Given the description of an element on the screen output the (x, y) to click on. 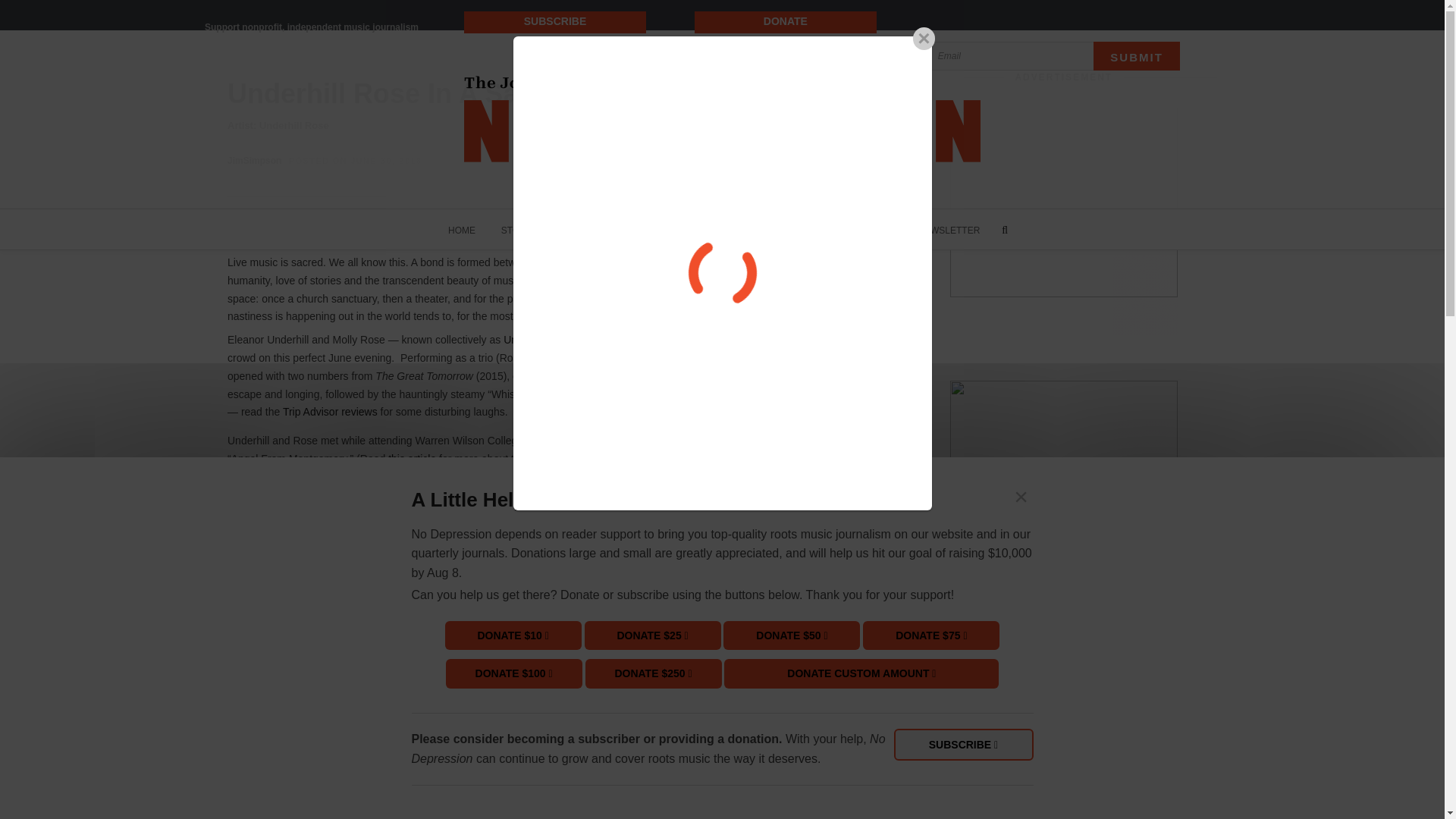
Share by Email (487, 231)
STORE (875, 229)
REVIEWS (587, 229)
Share On Twitter (417, 231)
JimSimpson (254, 160)
this article (411, 458)
Underhill Rose (294, 125)
Support nonprofit, independent music journalism (312, 27)
Share On Facebook (298, 231)
SUBSCRIBE (808, 229)
Tweet It (417, 231)
Submit (1136, 55)
DONATE (785, 21)
NEWSLETTER (948, 229)
HOME (461, 229)
